Given the description of an element on the screen output the (x, y) to click on. 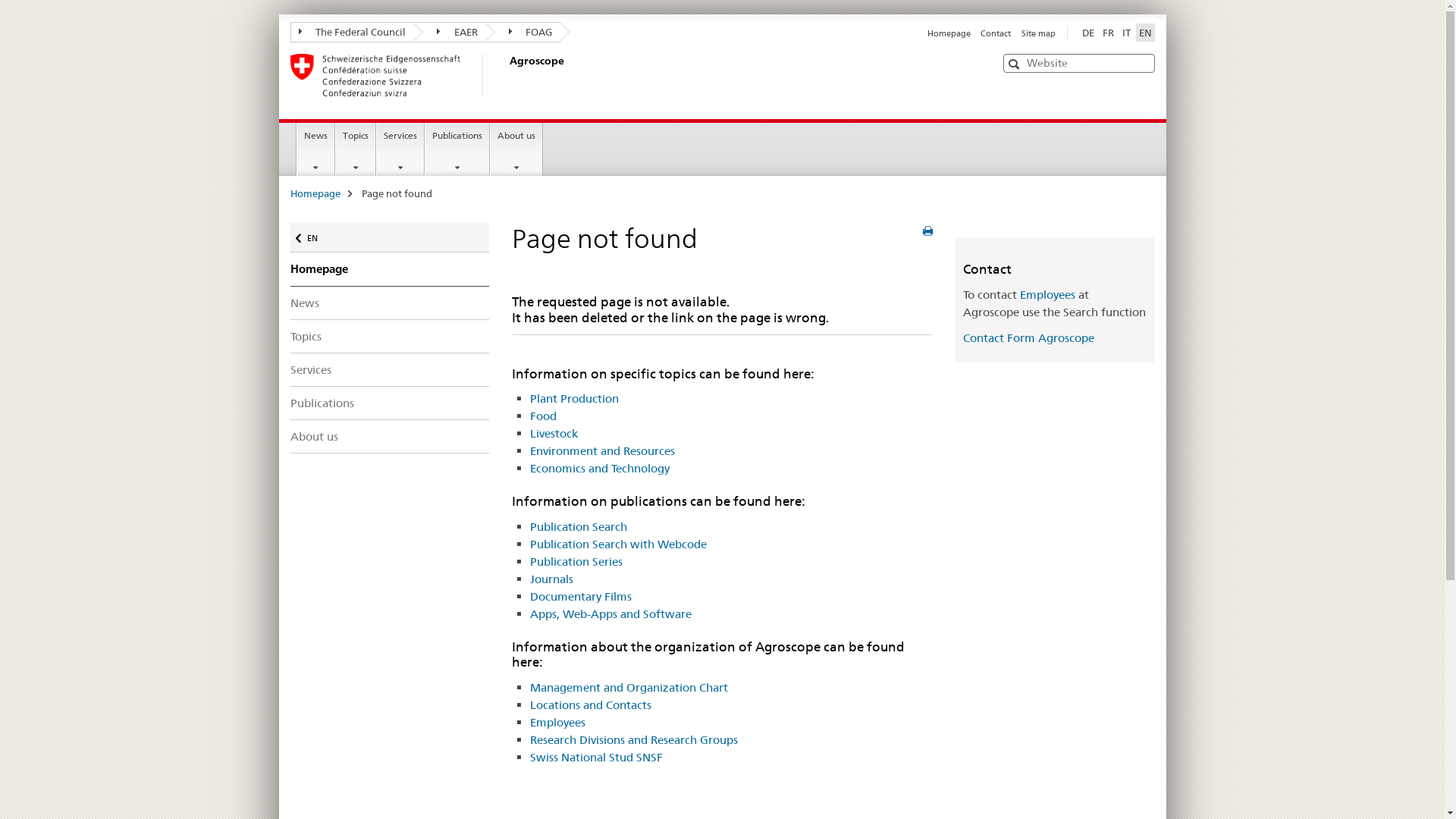
Services Element type: text (399, 148)
Site map Element type: text (1037, 33)
Homepage Element type: text (389, 268)
Services Element type: text (389, 369)
About us Element type: text (516, 148)
Contact Form Agroscope Element type: text (1028, 337)
EAER Element type: text (449, 31)
Employees Element type: text (556, 722)
Contact Element type: text (995, 33)
EN Element type: text (1144, 32)
FOAG Element type: text (522, 31)
Publication Search Element type: text (577, 526)
The Federal Council Element type: text (351, 31)
Homepage Element type: text (948, 33)
DE Element type: text (1087, 32)
Journals Element type: text (550, 578)
FR Element type: text (1108, 32)
Livestock Element type: text (553, 433)
Locations and Contacts Element type: text (589, 704)
Plant Production Element type: text (573, 398)
Management and Organization Chart Element type: text (628, 687)
News Element type: text (389, 302)
Apps, Web-Apps and Software Element type: text (609, 613)
About us Element type: text (389, 436)
Environment and Resources Element type: text (601, 450)
Research Divisions and Research Groups Element type: text (633, 739)
Swiss National Stud SNSF Element type: text (595, 756)
Economics and Technology Element type: text (598, 468)
Topics Element type: text (389, 336)
Agroscope Element type: text (505, 74)
Publication Series Element type: text (575, 561)
Publications Element type: text (457, 148)
Food Element type: text (542, 415)
Documentary Films Element type: text (579, 596)
News Element type: text (315, 148)
Publication Search with Webcode Element type: text (617, 543)
Back to
EN Element type: text (389, 237)
Topics Element type: text (355, 148)
Homepage Element type: text (314, 193)
IT Element type: text (1126, 32)
Print this page Element type: hover (927, 230)
Employees Element type: text (1047, 294)
Publications Element type: text (389, 402)
